Given the description of an element on the screen output the (x, y) to click on. 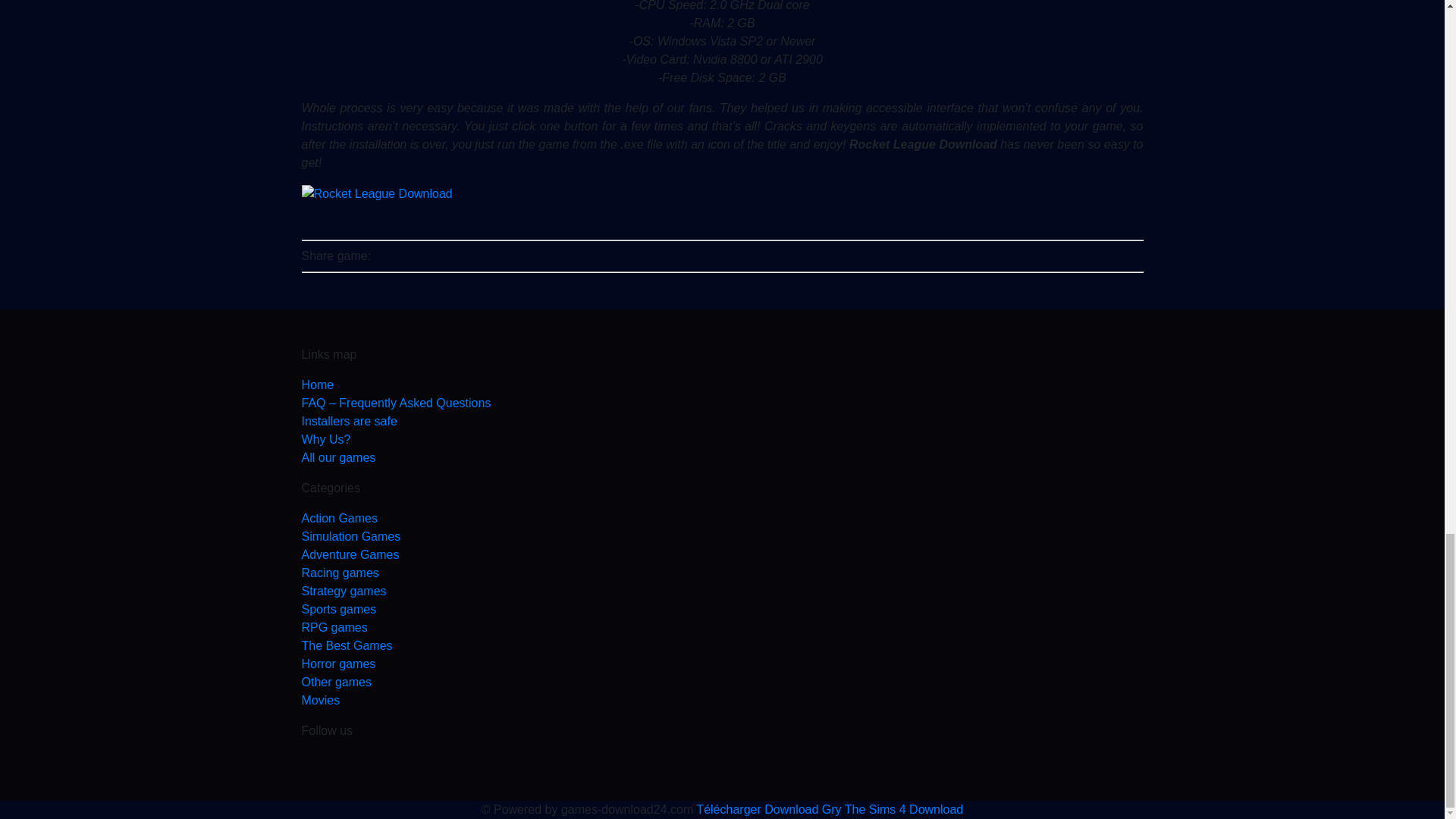
Adventure Games (721, 555)
Horror games (721, 664)
Racing games (721, 573)
Home (721, 384)
Strategy games (721, 591)
Simulation Games (721, 536)
Action Games (721, 518)
The Best Games (721, 646)
Why Us? (721, 439)
All our games (721, 457)
